Given the description of an element on the screen output the (x, y) to click on. 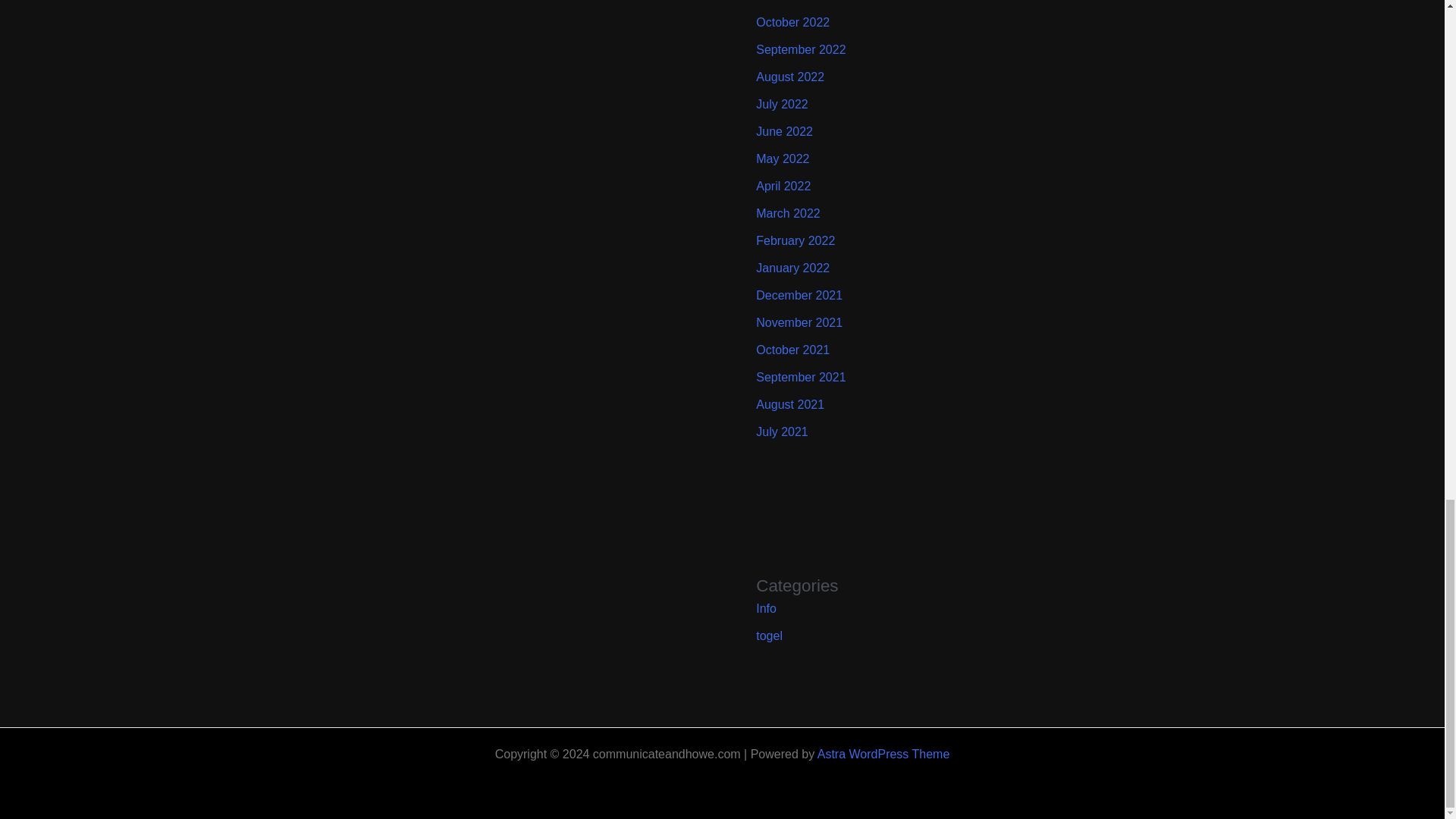
October 2022 (792, 21)
November 2022 (799, 0)
August 2022 (789, 76)
September 2022 (800, 49)
